Given the description of an element on the screen output the (x, y) to click on. 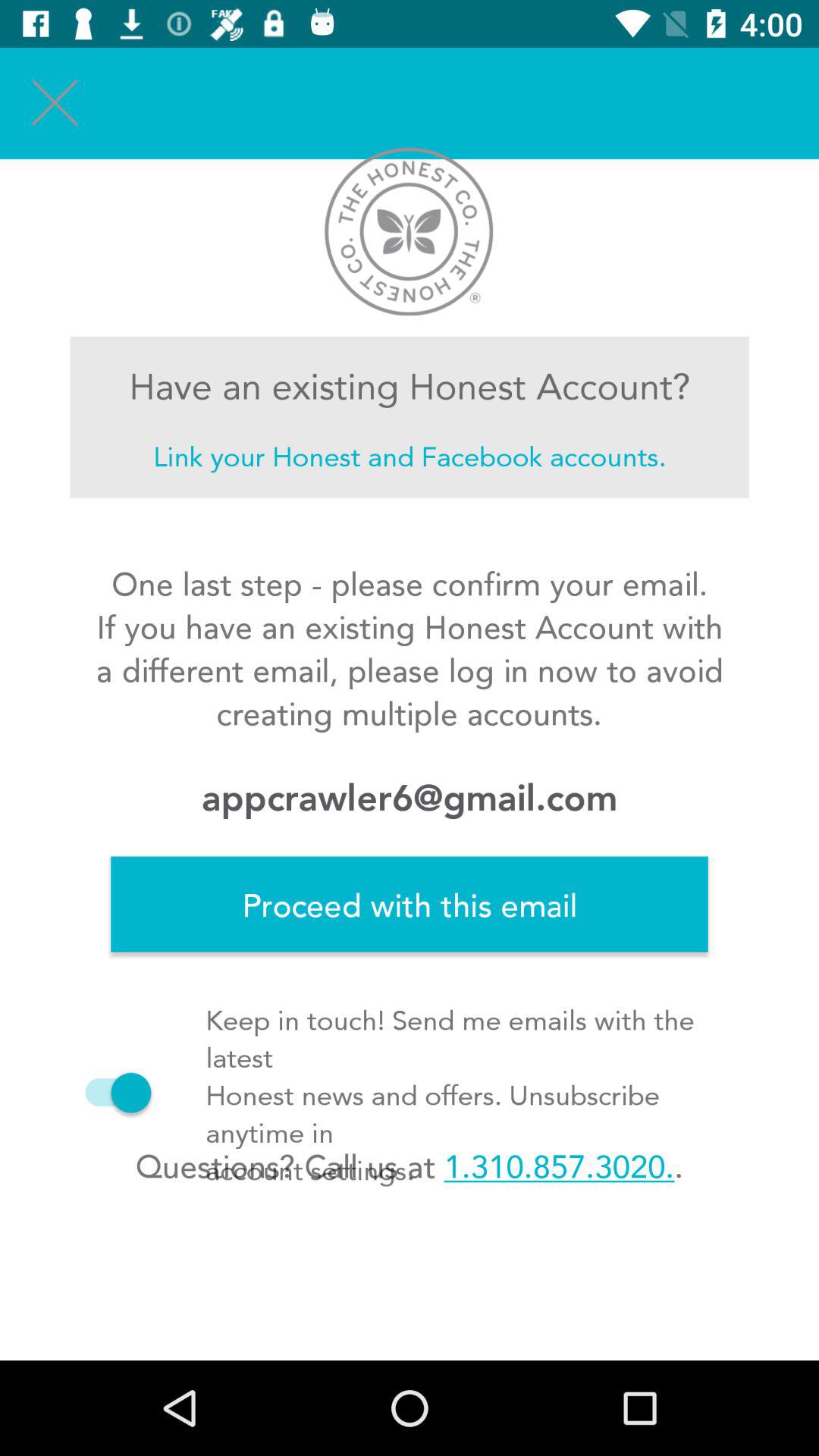
select the icon below proceed with this icon (110, 1092)
